Given the description of an element on the screen output the (x, y) to click on. 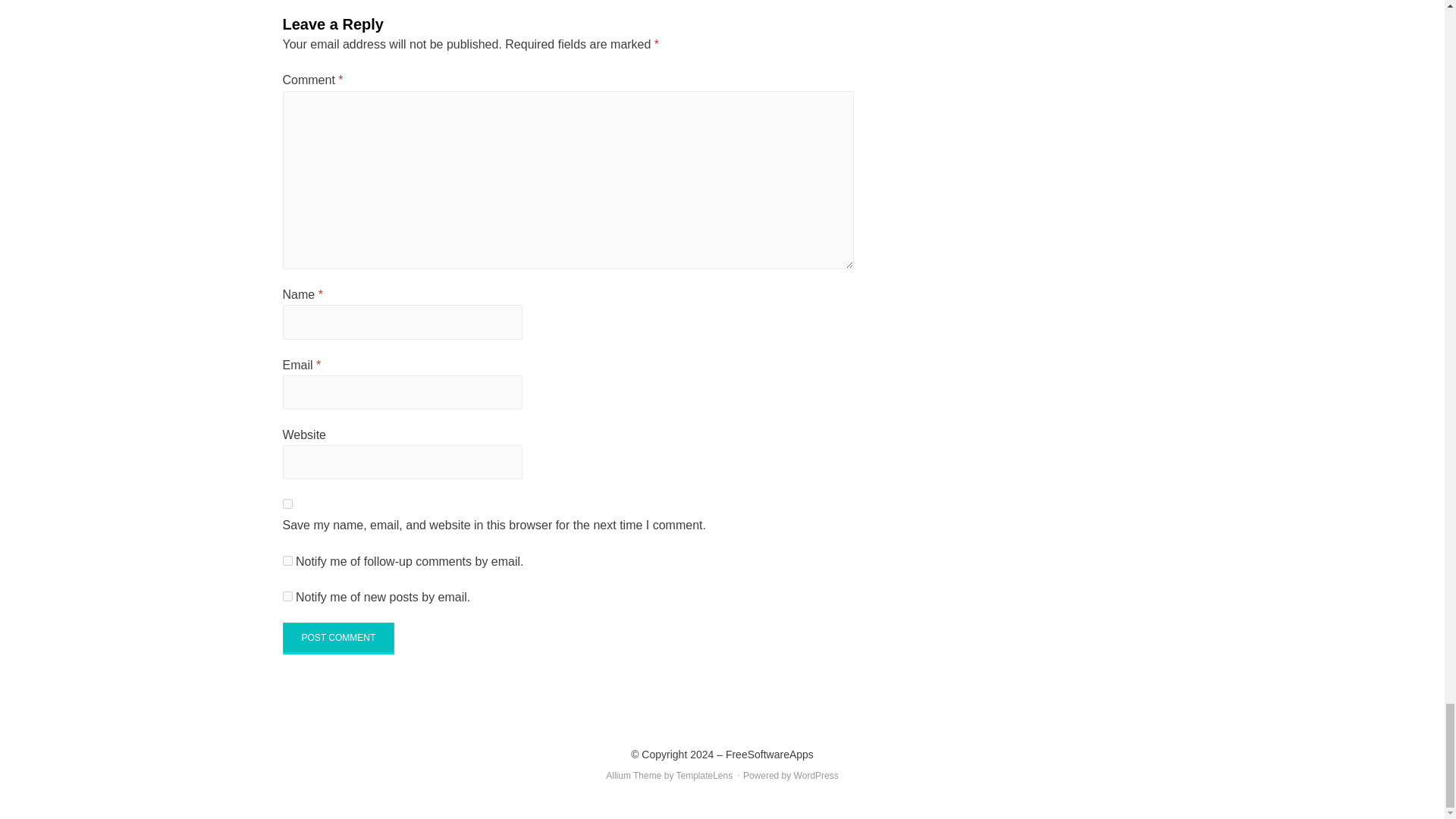
Post Comment (338, 638)
TemplateLens (705, 775)
WordPress (815, 775)
subscribe (287, 560)
subscribe (287, 596)
yes (287, 503)
